Given the description of an element on the screen output the (x, y) to click on. 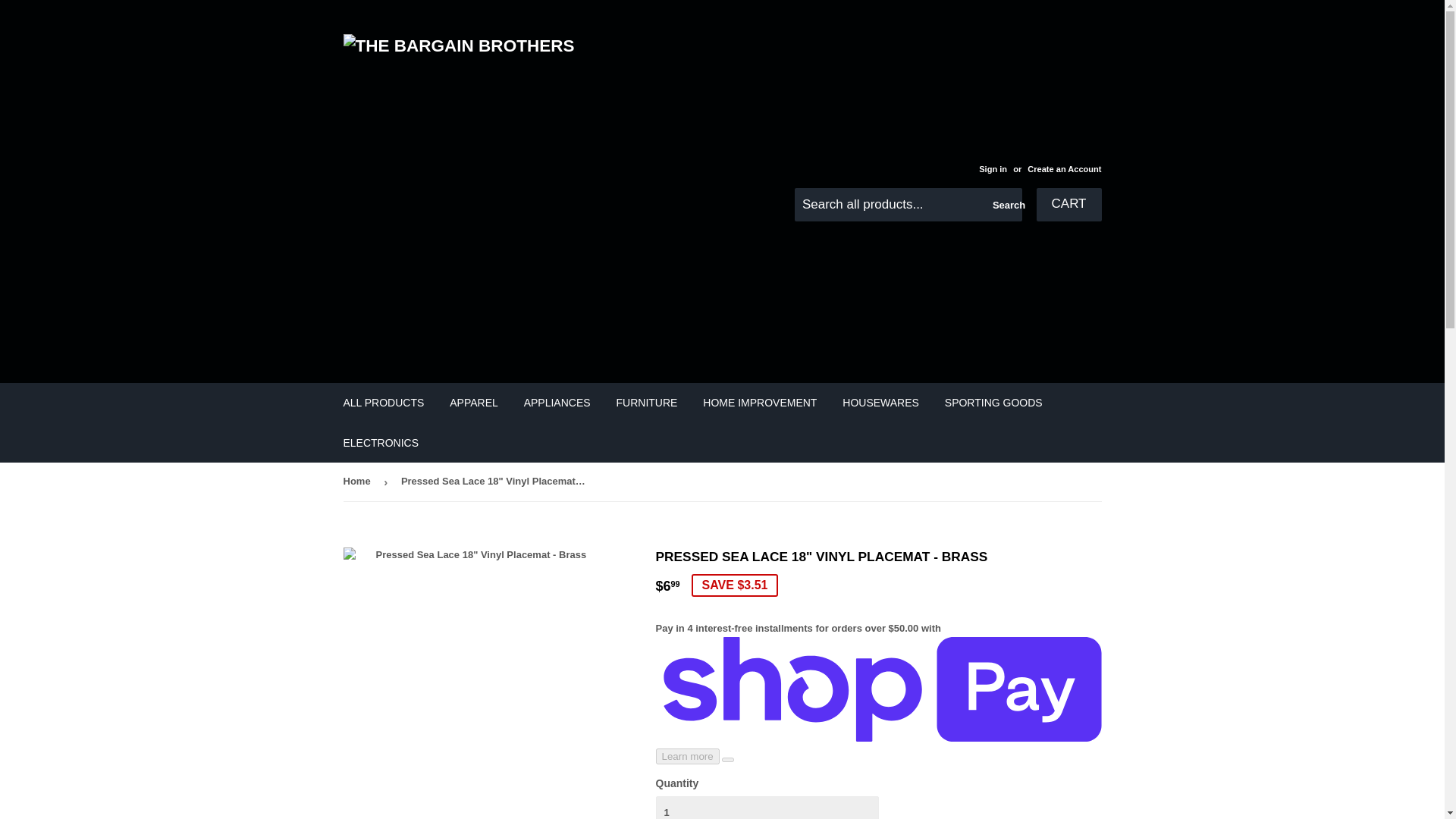
Create an Account (1063, 168)
Search (1005, 205)
1 (766, 807)
CART (1069, 204)
Sign in (992, 168)
